Given the description of an element on the screen output the (x, y) to click on. 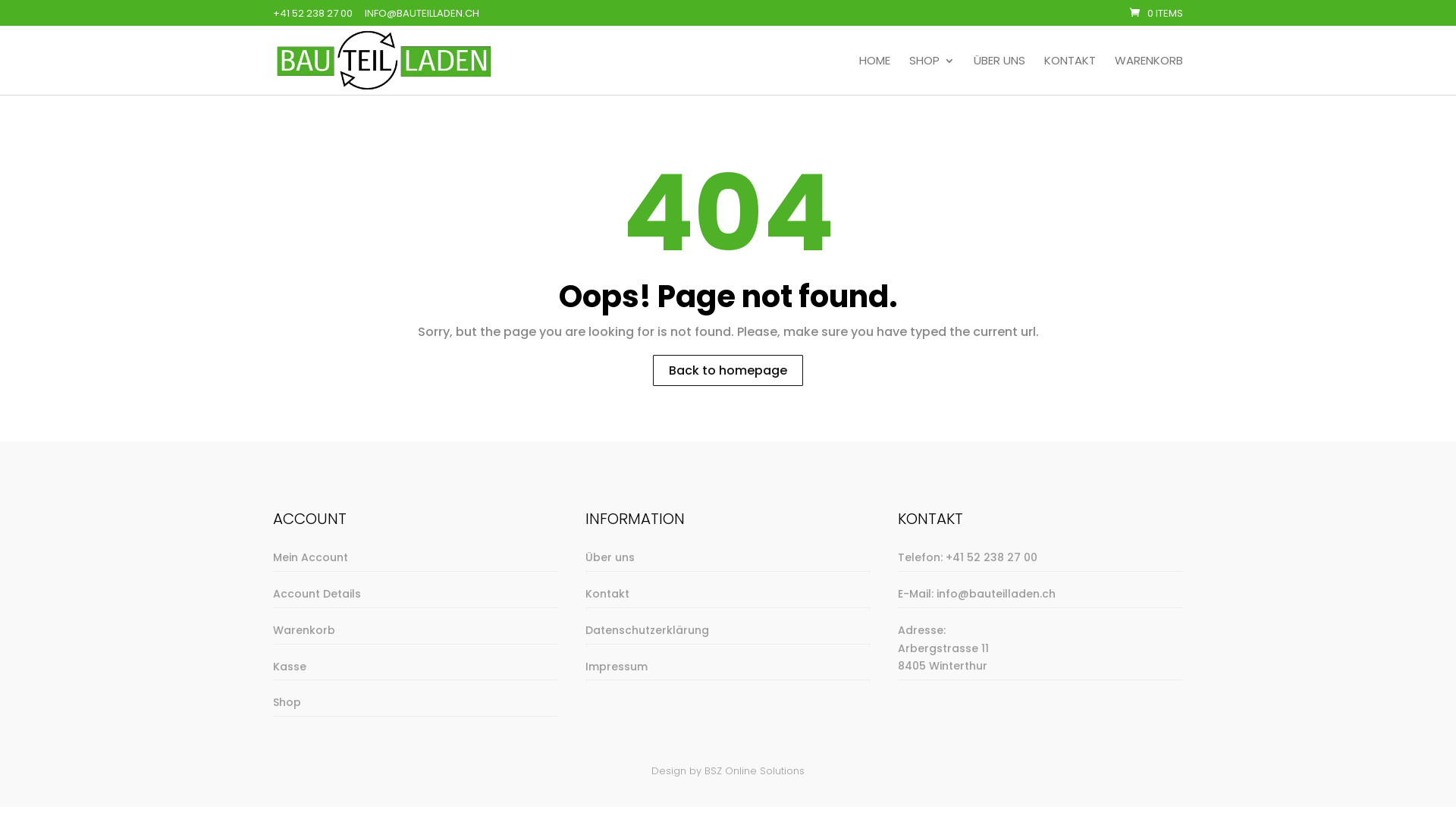
Design by BSZ Online Solutions Element type: text (727, 770)
Mein Account Element type: text (310, 556)
WARENKORB Element type: text (1148, 74)
Telefon: +41 52 238 27 00 Element type: text (967, 556)
E-Mail: info@bauteilladen.ch Element type: text (976, 593)
INFO@BAUTEILLADEN.CH Element type: text (421, 13)
Impressum Element type: text (616, 666)
+41 52 238 27 00 Element type: text (312, 13)
SHOP Element type: text (931, 74)
Adresse:
Arbergstrasse 11
8405 Winterthur Element type: text (942, 648)
Back to homepage Element type: text (727, 369)
Shop Element type: text (287, 701)
KONTAKT Element type: text (1069, 74)
Kasse Element type: text (289, 666)
HOME Element type: text (874, 74)
Kontakt Element type: text (607, 593)
0 ITEMS Element type: text (1156, 13)
Warenkorb Element type: text (304, 629)
Account Details Element type: text (316, 593)
